Given the description of an element on the screen output the (x, y) to click on. 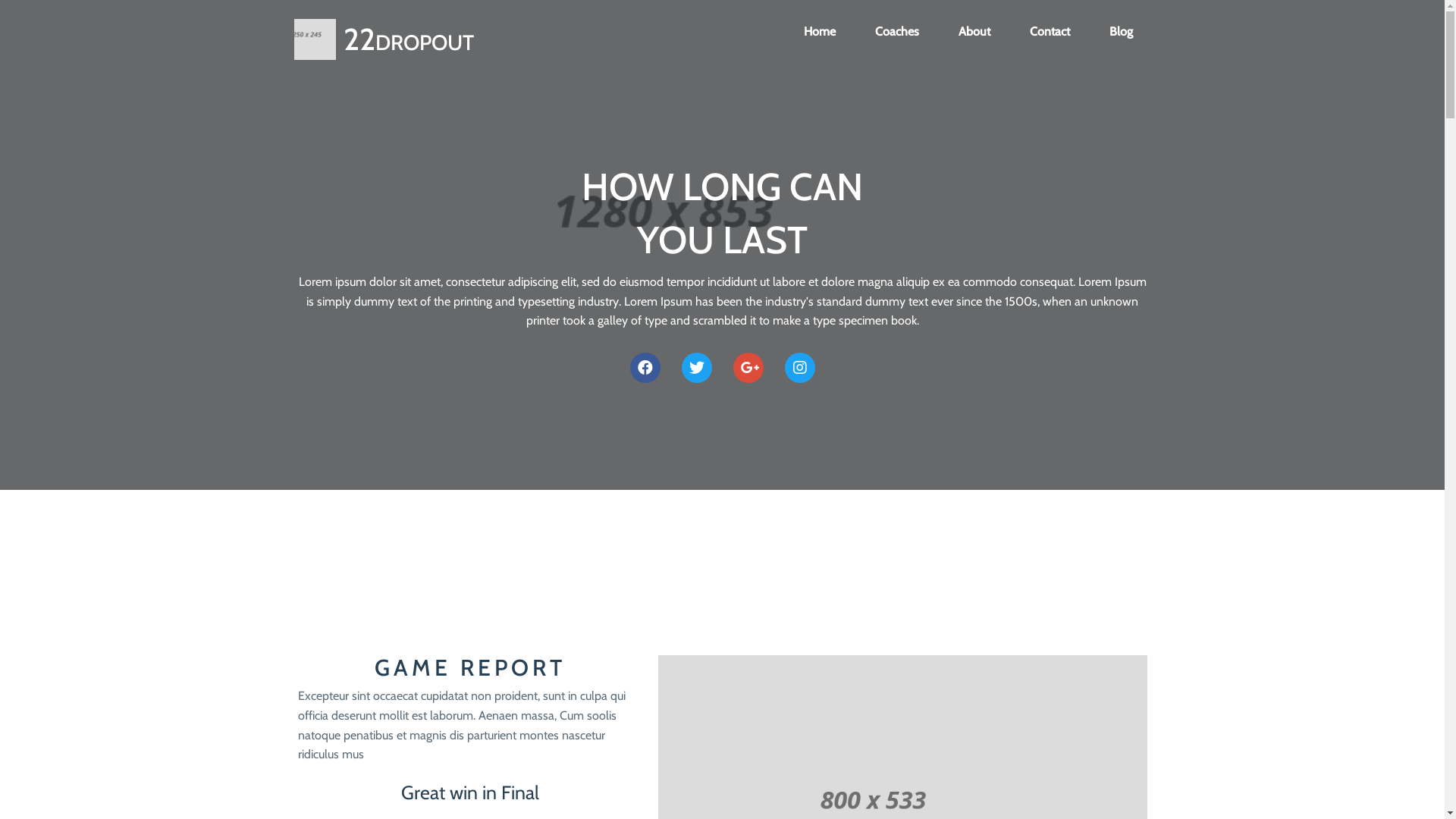
Blog Element type: text (1120, 32)
Contact Element type: text (1049, 32)
About Element type: text (974, 32)
22dropout Element type: text (504, 39)
Home Element type: text (819, 32)
Coaches Element type: text (896, 32)
